Given the description of an element on the screen output the (x, y) to click on. 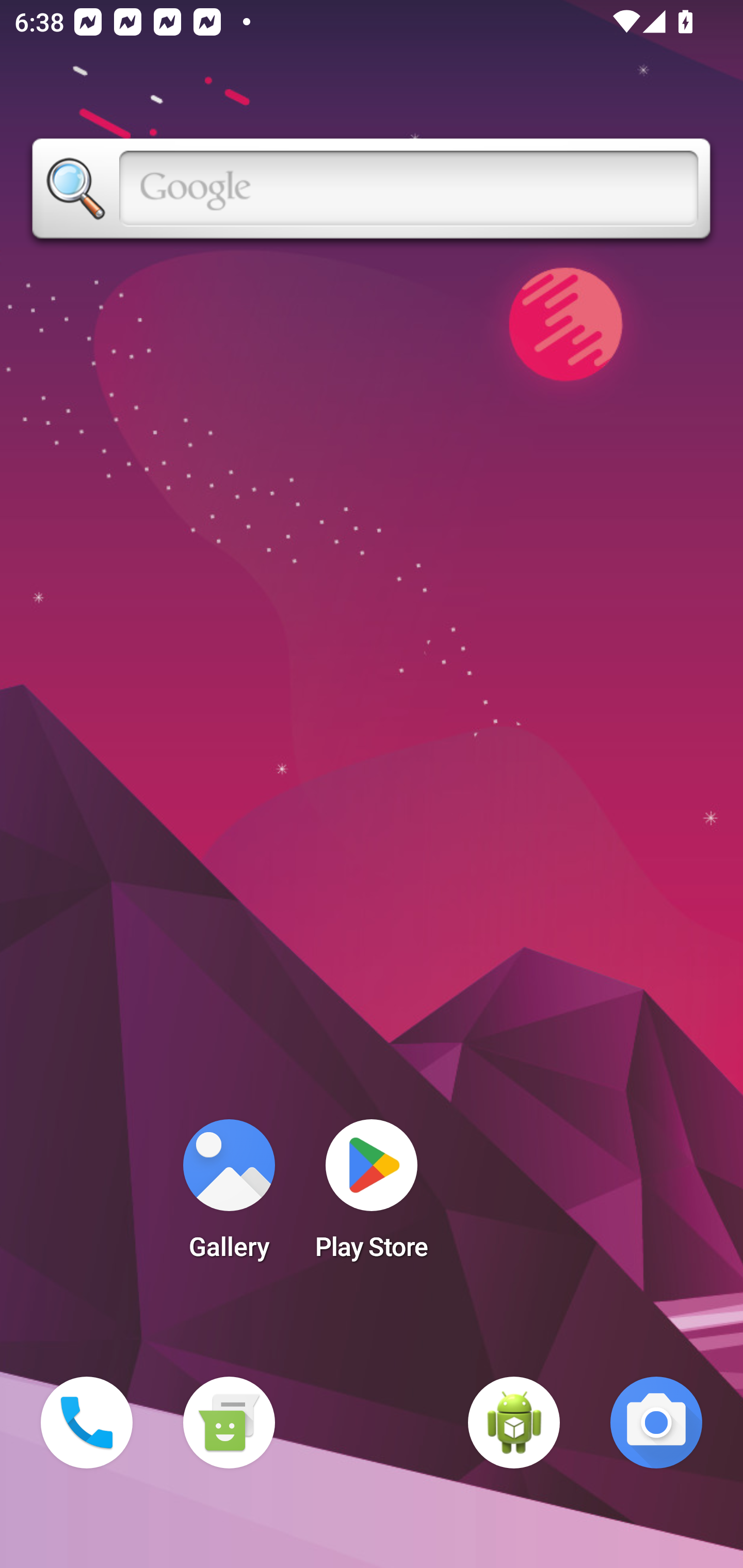
Gallery (228, 1195)
Play Store (371, 1195)
Phone (86, 1422)
Messaging (228, 1422)
WebView Browser Tester (513, 1422)
Camera (656, 1422)
